Given the description of an element on the screen output the (x, y) to click on. 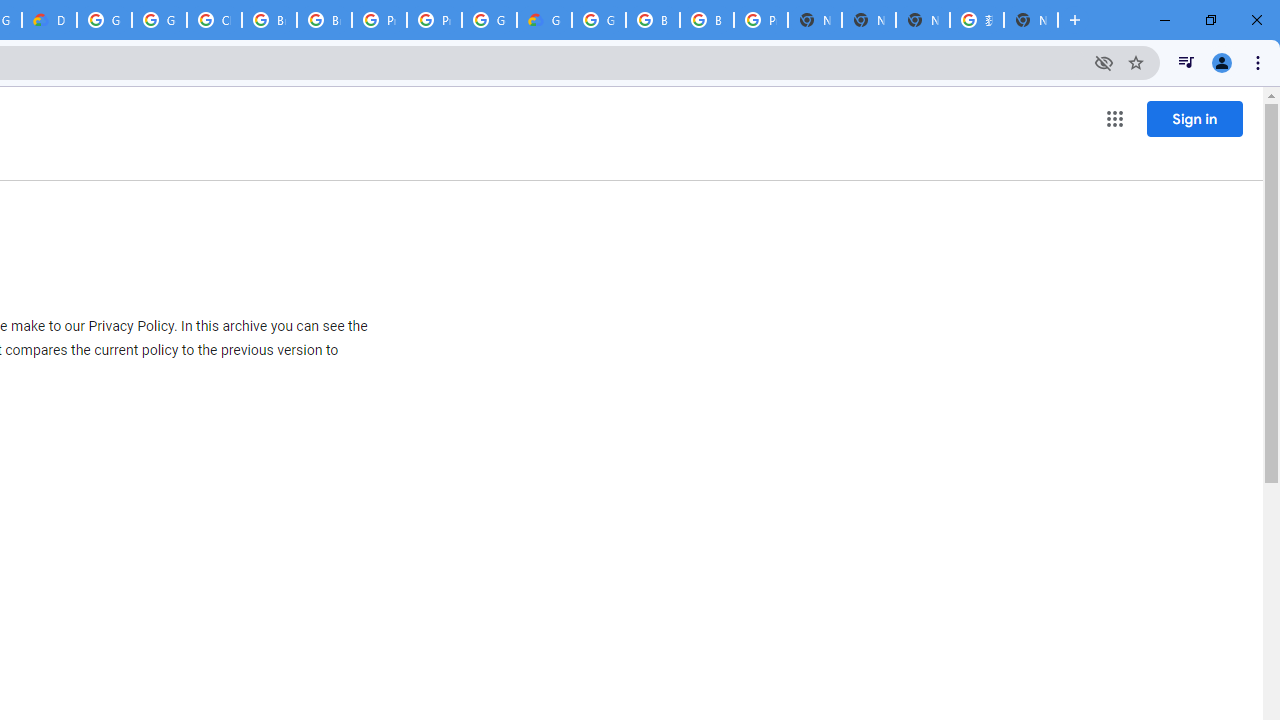
Google Cloud Platform (598, 20)
Google Cloud Platform (489, 20)
Google Cloud Estimate Summary (544, 20)
Browse Chrome as a guest - Computer - Google Chrome Help (268, 20)
